Given the description of an element on the screen output the (x, y) to click on. 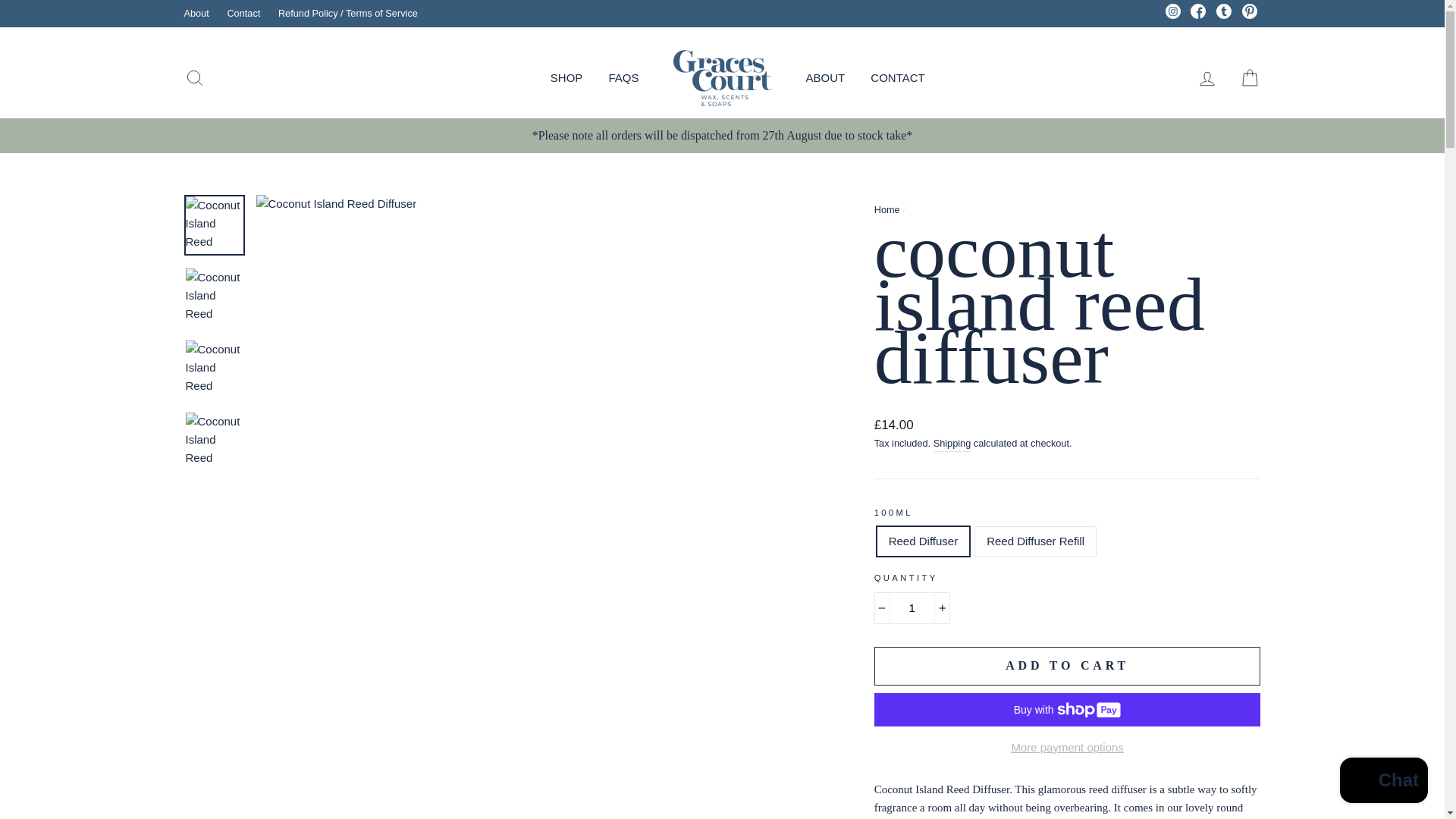
Shopify online store chat (1383, 781)
1 (912, 608)
Back to the frontpage (887, 209)
